Given the description of an element on the screen output the (x, y) to click on. 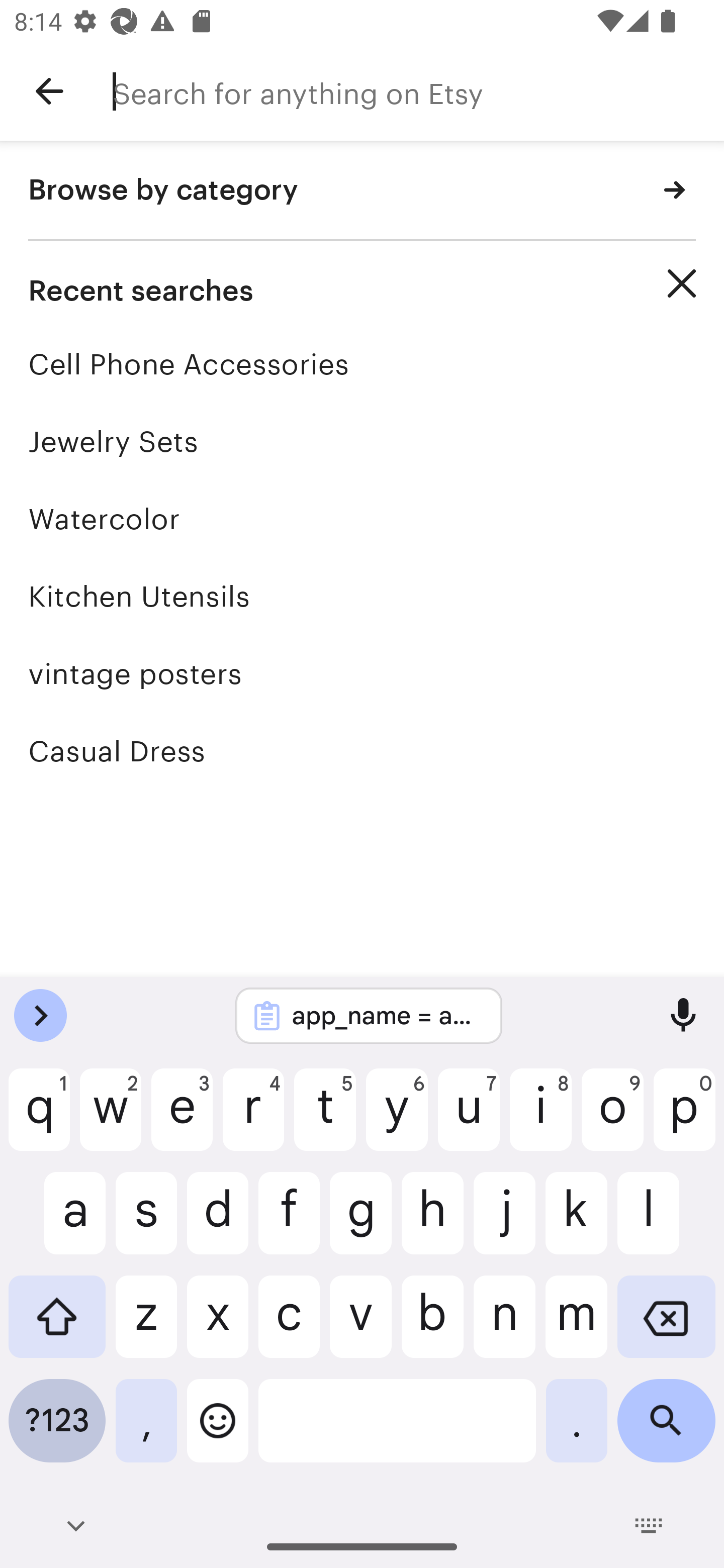
Navigate up (49, 91)
Search for anything on Etsy (418, 91)
Browse by category (362, 191)
Clear (681, 283)
Cell Phone Accessories (362, 364)
Jewelry Sets (362, 440)
Watercolor (362, 518)
Kitchen Utensils (362, 596)
vintage posters (362, 673)
Casual Dress (362, 750)
